Given the description of an element on the screen output the (x, y) to click on. 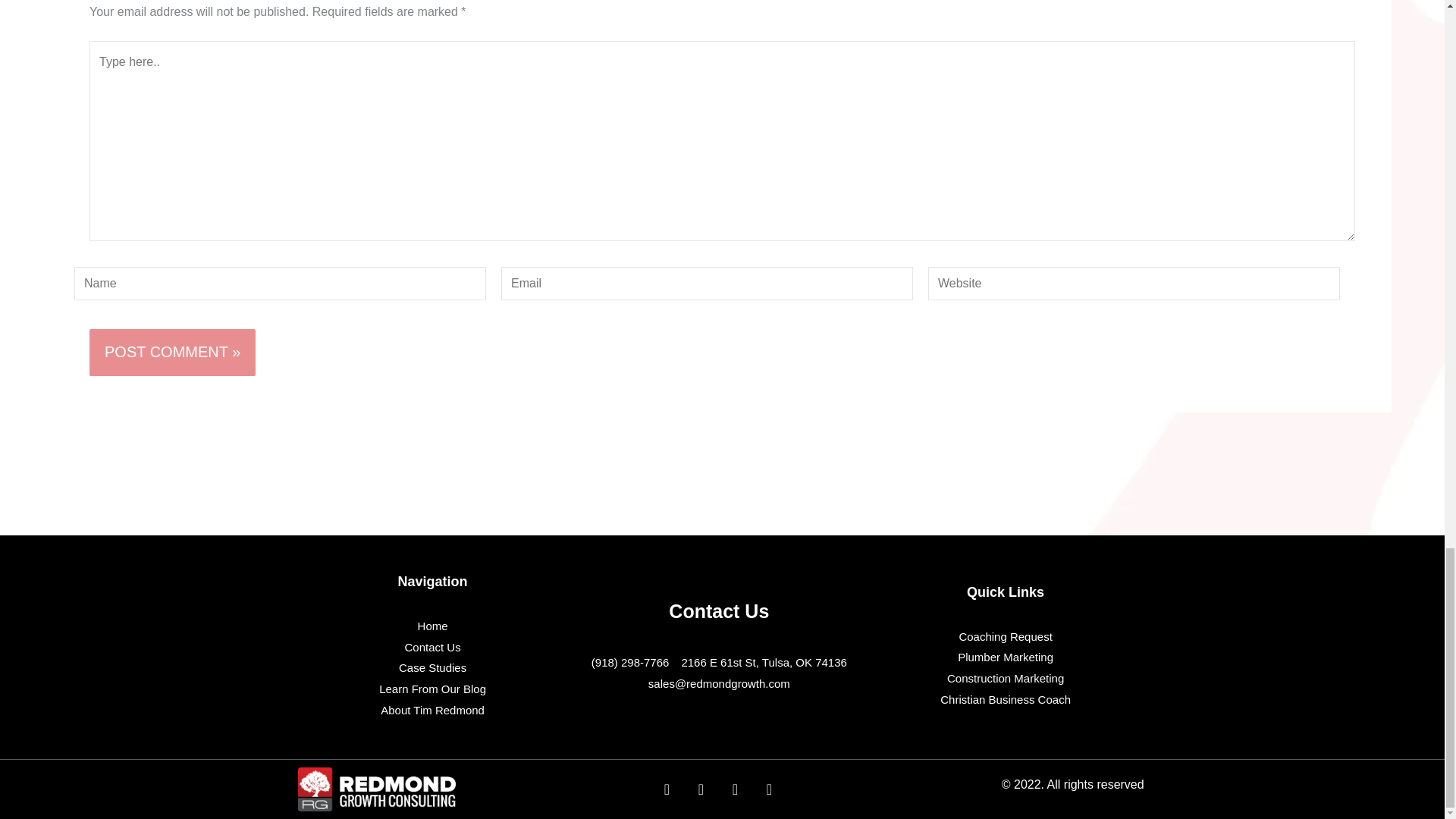
Contact Us (432, 647)
Plumber Marketing (1005, 657)
Home (432, 626)
Learn From Our Blog (432, 689)
About Tim Redmond (432, 710)
Construction Marketing (1005, 678)
Case Studies (432, 667)
